Given the description of an element on the screen output the (x, y) to click on. 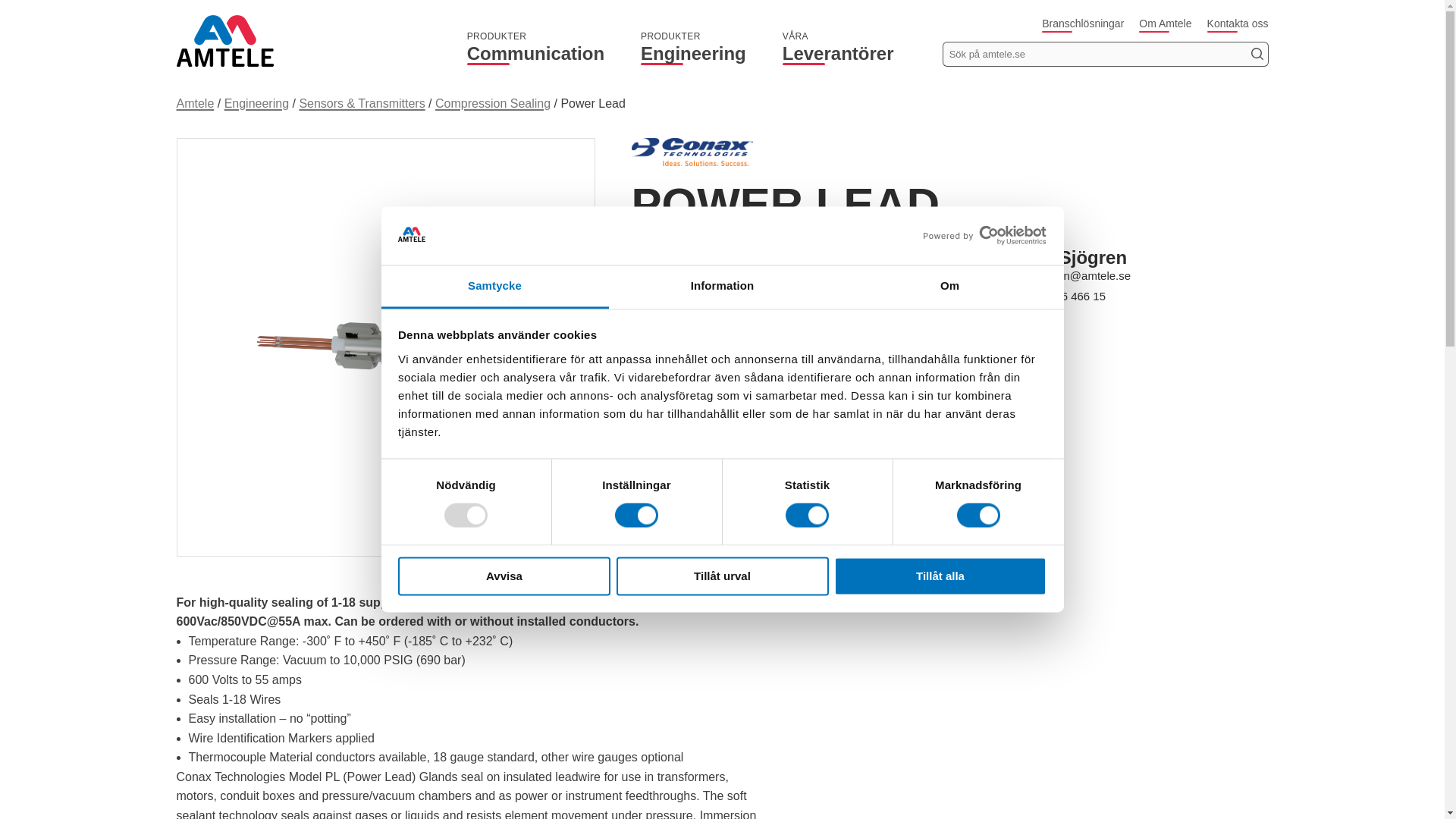
Samtycke (692, 46)
Avvisa (494, 286)
Information (503, 575)
Om (535, 46)
